Given the description of an element on the screen output the (x, y) to click on. 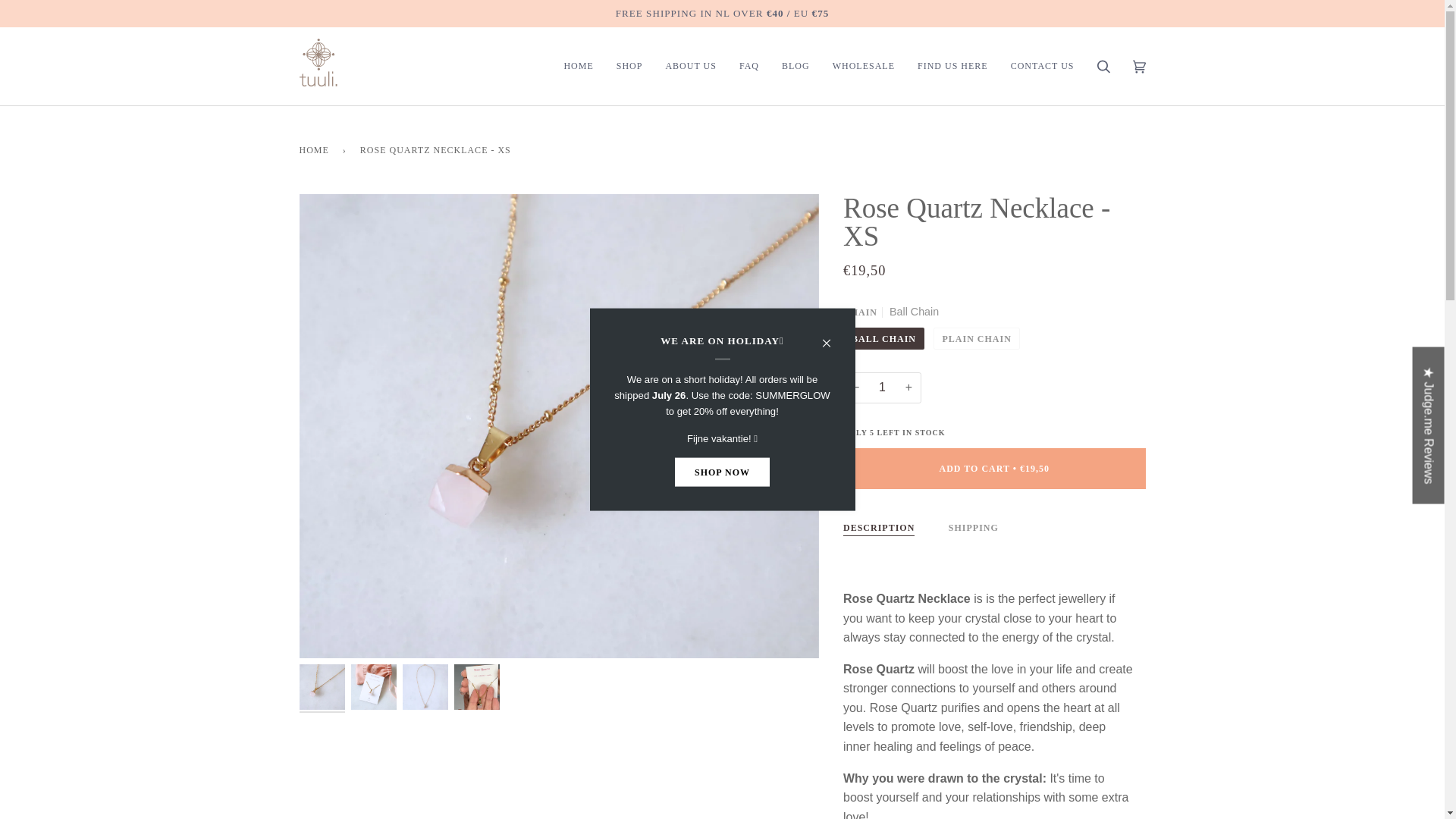
WHOLESALE (863, 66)
CONTACT US (1042, 66)
1 (882, 387)
ABOUT US (689, 66)
Back to the frontpage (315, 150)
FIND US HERE (951, 66)
